Given the description of an element on the screen output the (x, y) to click on. 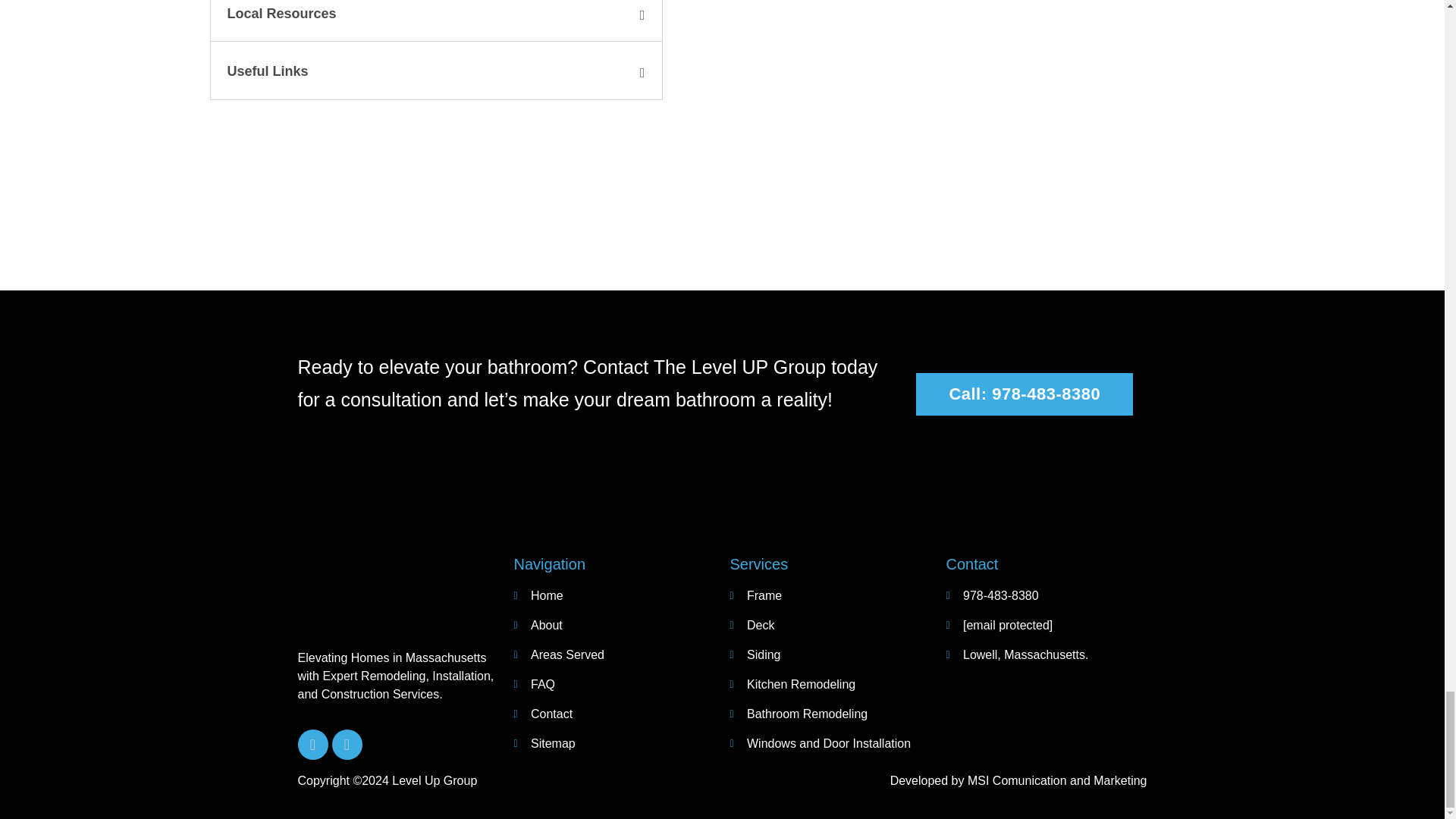
Local Resources (281, 13)
Useful Links (267, 70)
